Given the description of an element on the screen output the (x, y) to click on. 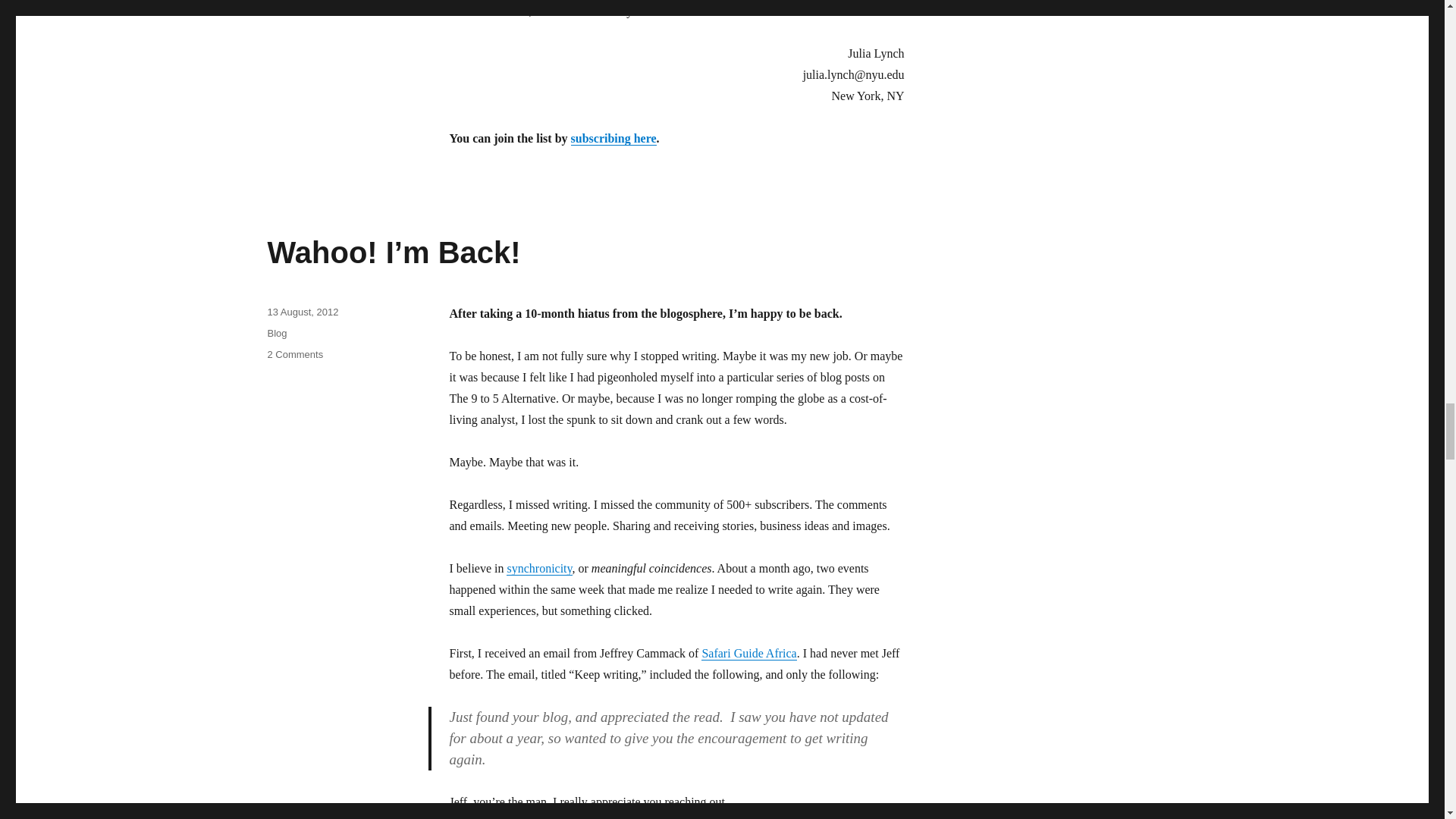
subscribing here (613, 137)
synchronicity (539, 567)
Safari Guide Africa (748, 653)
